Given the description of an element on the screen output the (x, y) to click on. 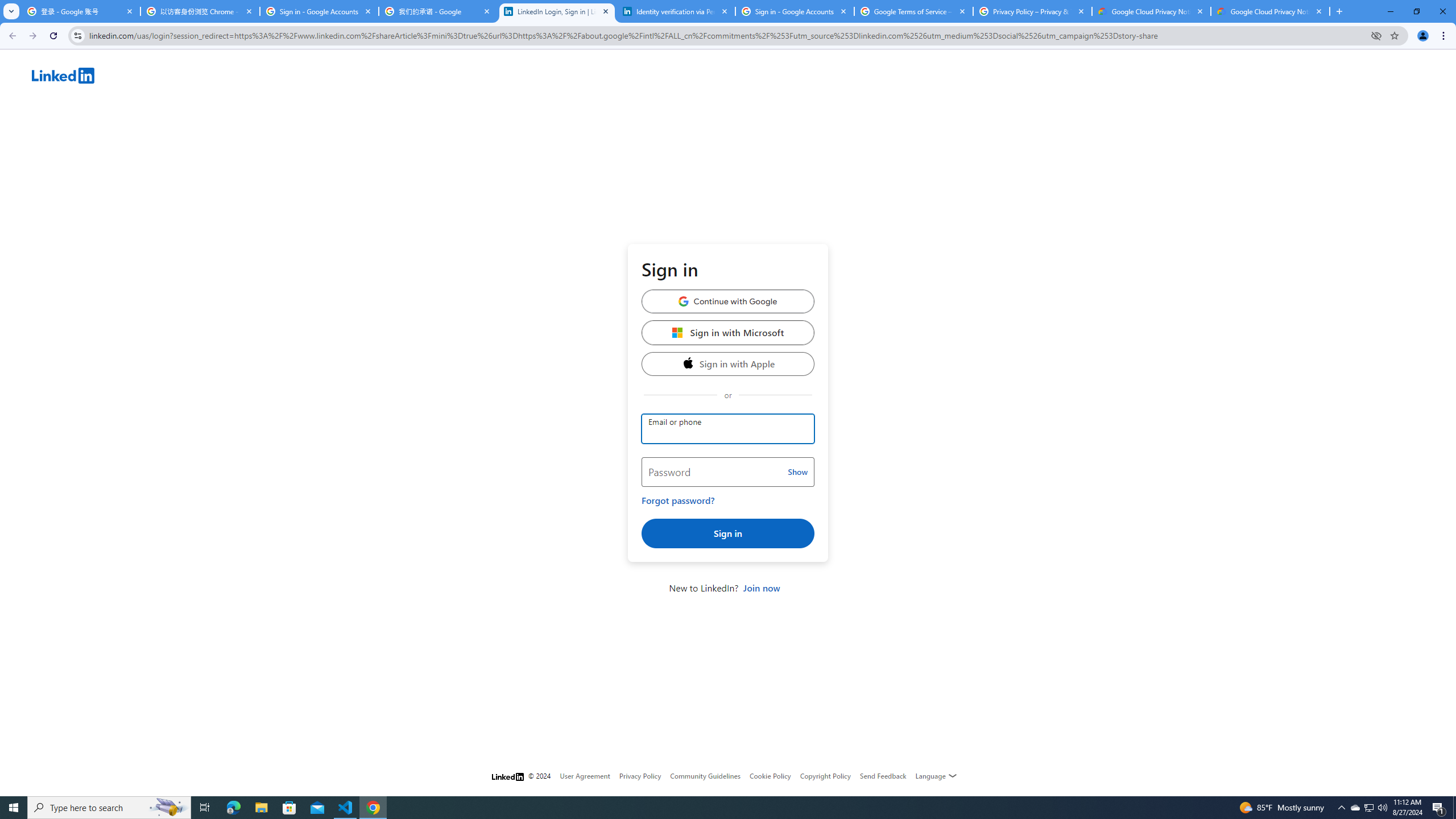
User Agreement (584, 775)
Identity verification via Persona | LinkedIn Help (676, 11)
Show (797, 472)
Send Feedback (883, 775)
Continue with Google (727, 300)
Sign in - Google Accounts (794, 11)
